Given the description of an element on the screen output the (x, y) to click on. 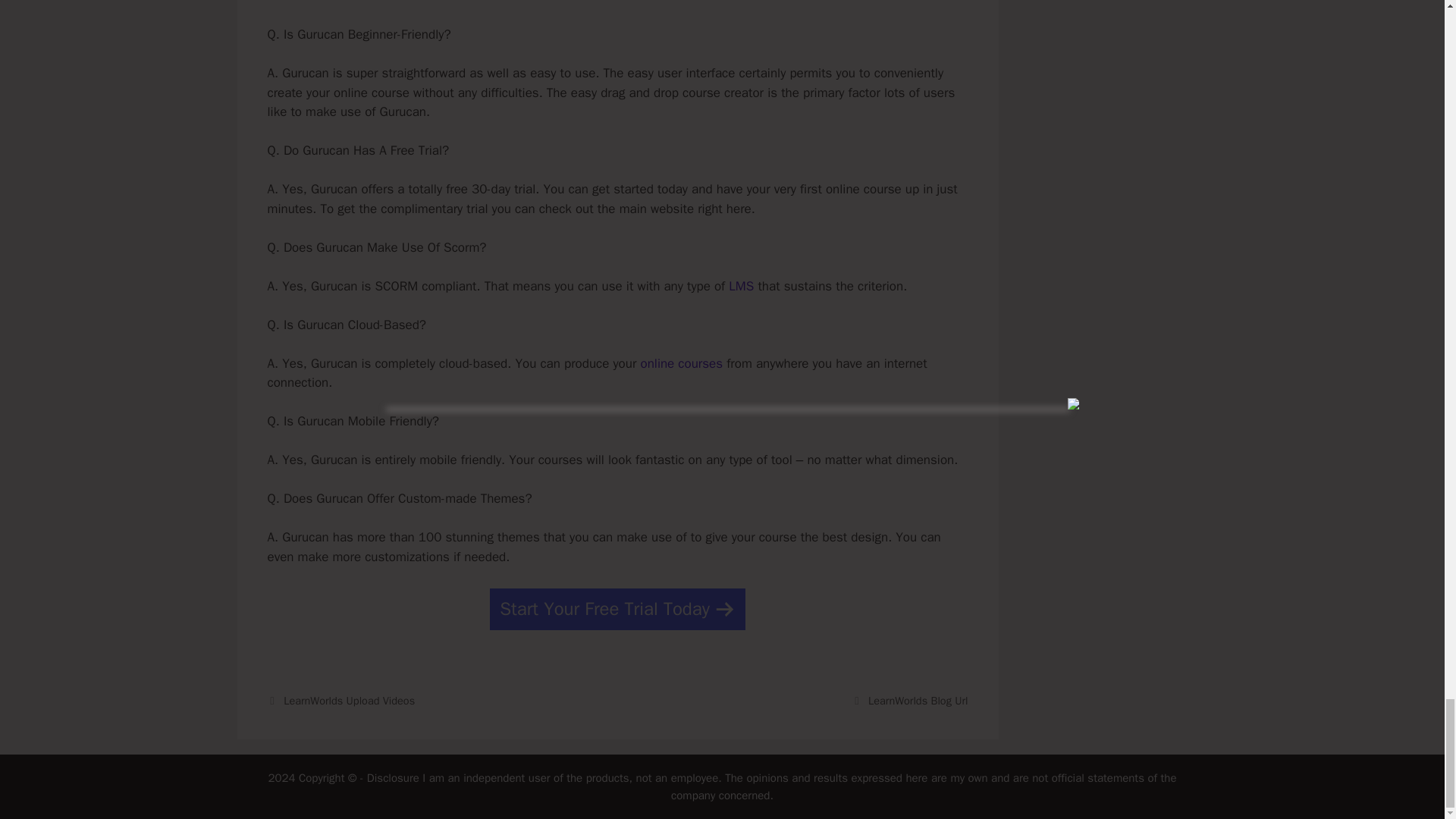
LearnWorlds Blog Url (917, 700)
LMS (741, 286)
LearnWorlds Upload Videos (348, 700)
Start Your Free Trial Today (617, 608)
online courses (681, 363)
